Given the description of an element on the screen output the (x, y) to click on. 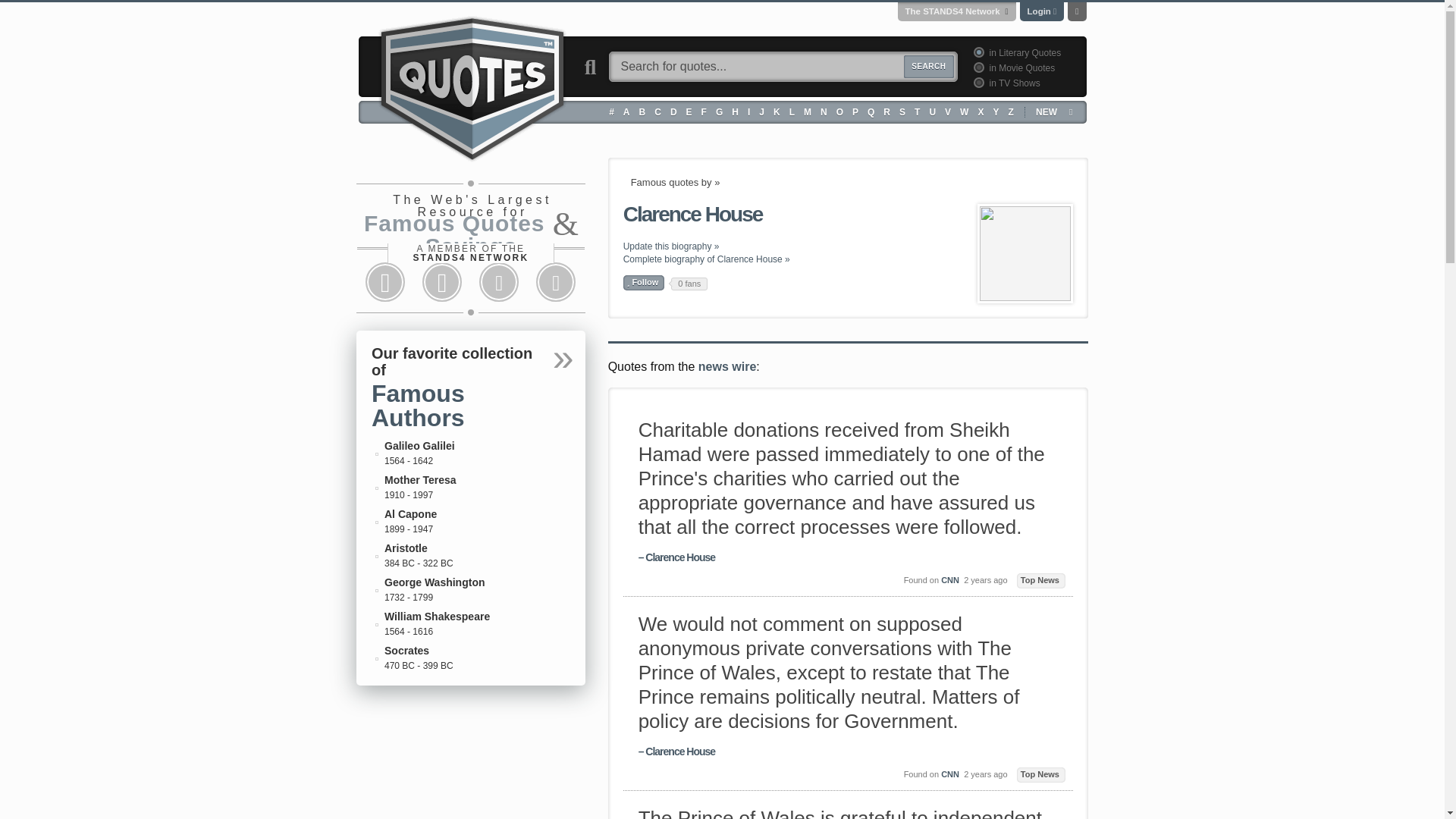
1 (976, 51)
4 (976, 81)
Login (1039, 10)
2 (976, 67)
Quotes.net (471, 86)
Share this page on Twitter (441, 282)
Share this page on Reddit (498, 282)
SEARCH (928, 66)
Share this page with AddToAny (556, 282)
Clarence House (1024, 253)
